Given the description of an element on the screen output the (x, y) to click on. 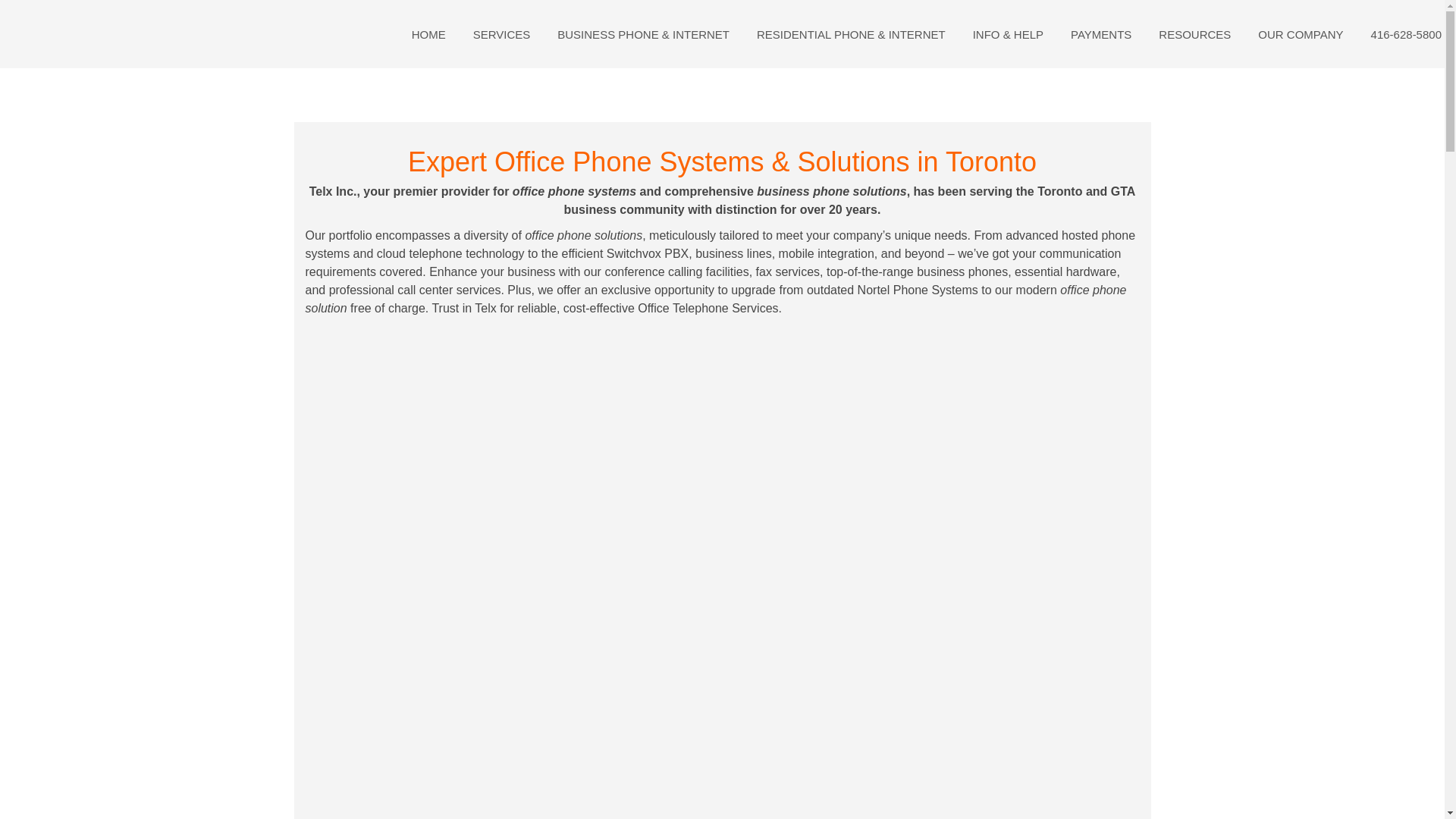
SERVICES (502, 33)
PAYMENTS (1100, 33)
RESOURCES (1194, 33)
OUR COMPANY (1300, 33)
